Given the description of an element on the screen output the (x, y) to click on. 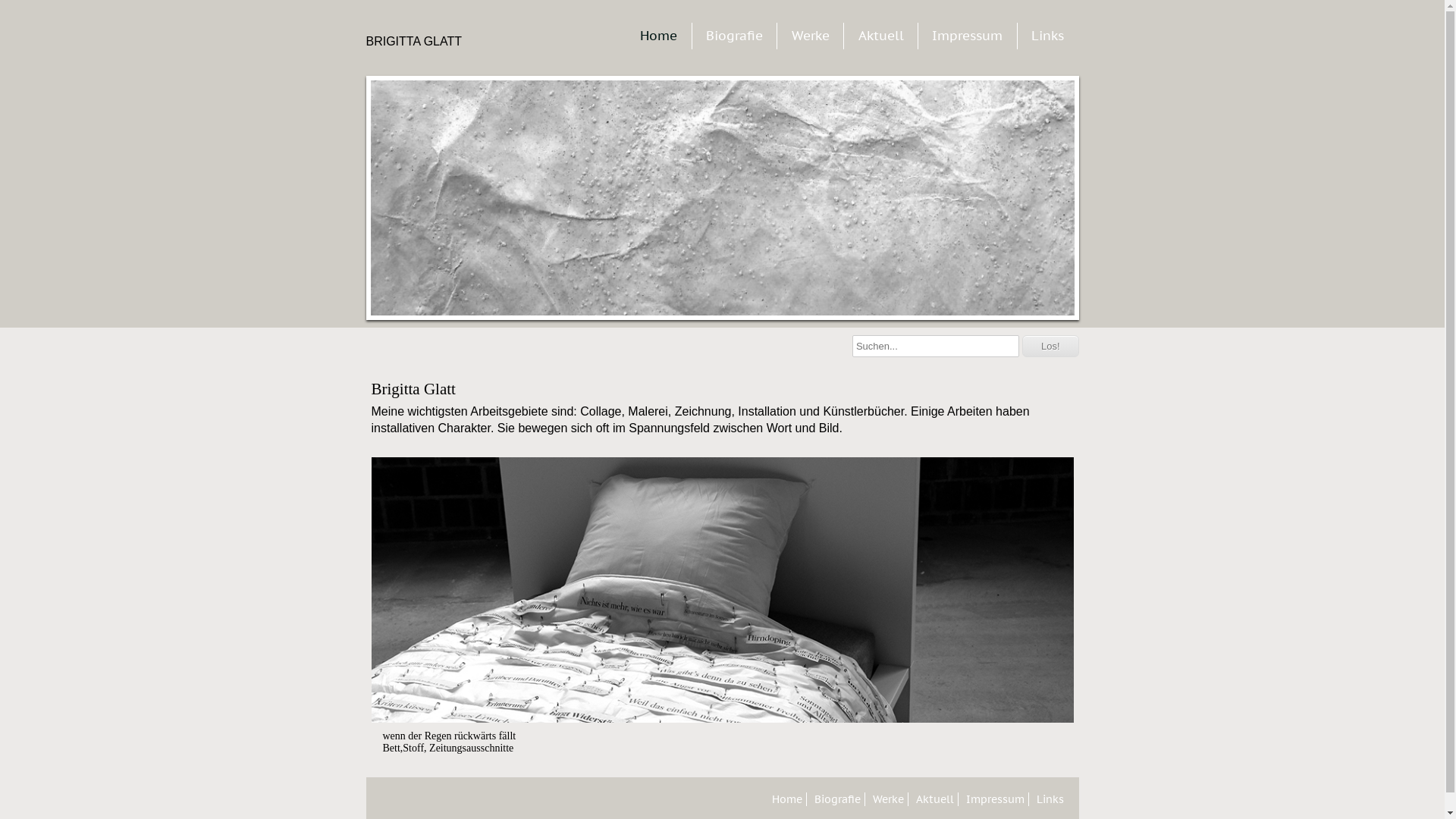
BRIGITTA GLATT Element type: text (425, 37)
Aktuell Element type: text (880, 35)
Aktuell Element type: text (936, 799)
Home Element type: text (788, 799)
Los! Element type: text (1050, 346)
Impressum Element type: text (997, 799)
Links Element type: text (1047, 35)
Biografie Element type: text (734, 35)
Biografie Element type: text (839, 799)
Home Element type: text (658, 35)
Werke Element type: text (889, 799)
Impressum Element type: text (967, 35)
Links Element type: text (1050, 799)
Werke Element type: text (810, 35)
